Given the description of an element on the screen output the (x, y) to click on. 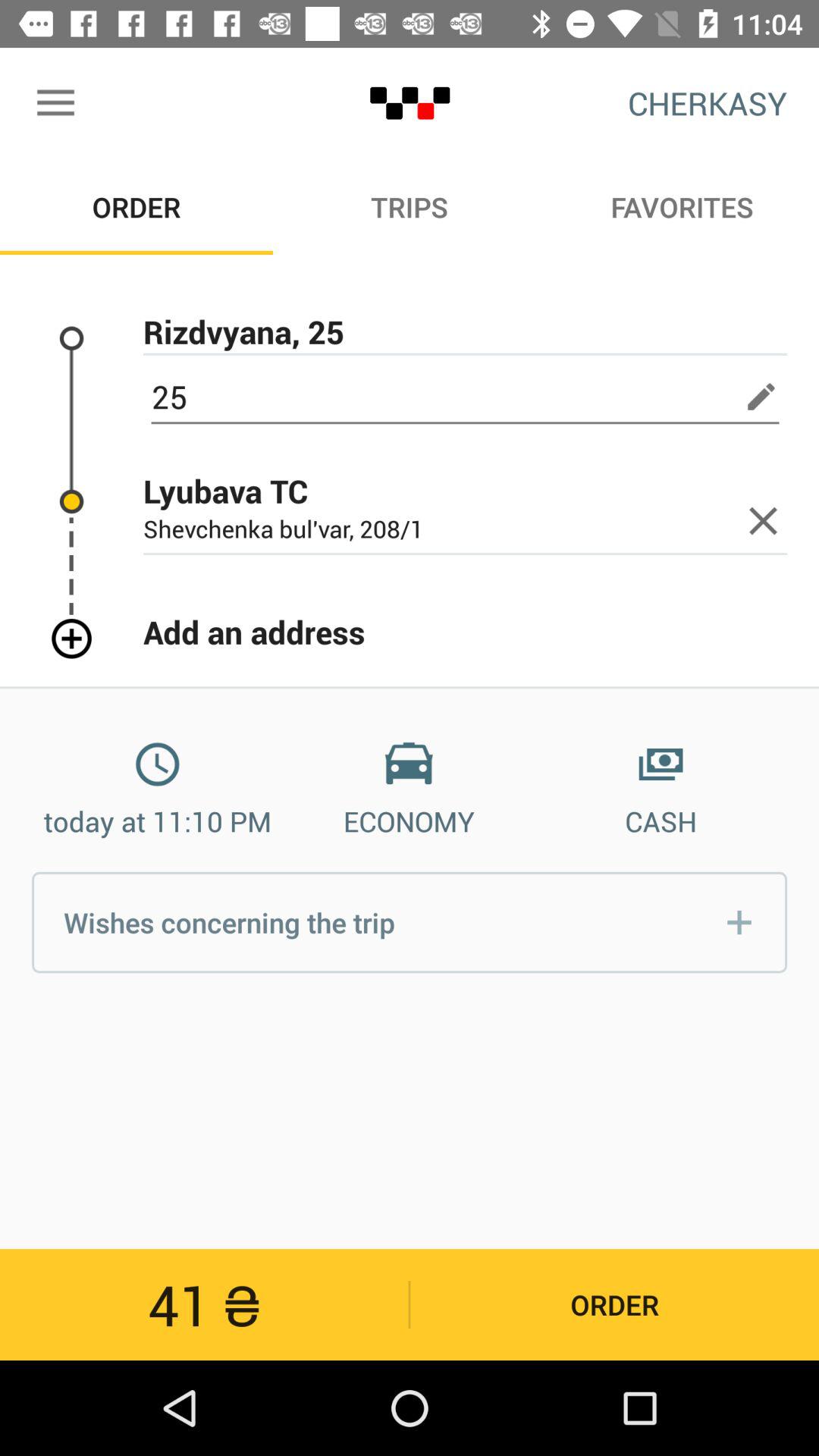
press icon above favorites item (707, 102)
